Given the description of an element on the screen output the (x, y) to click on. 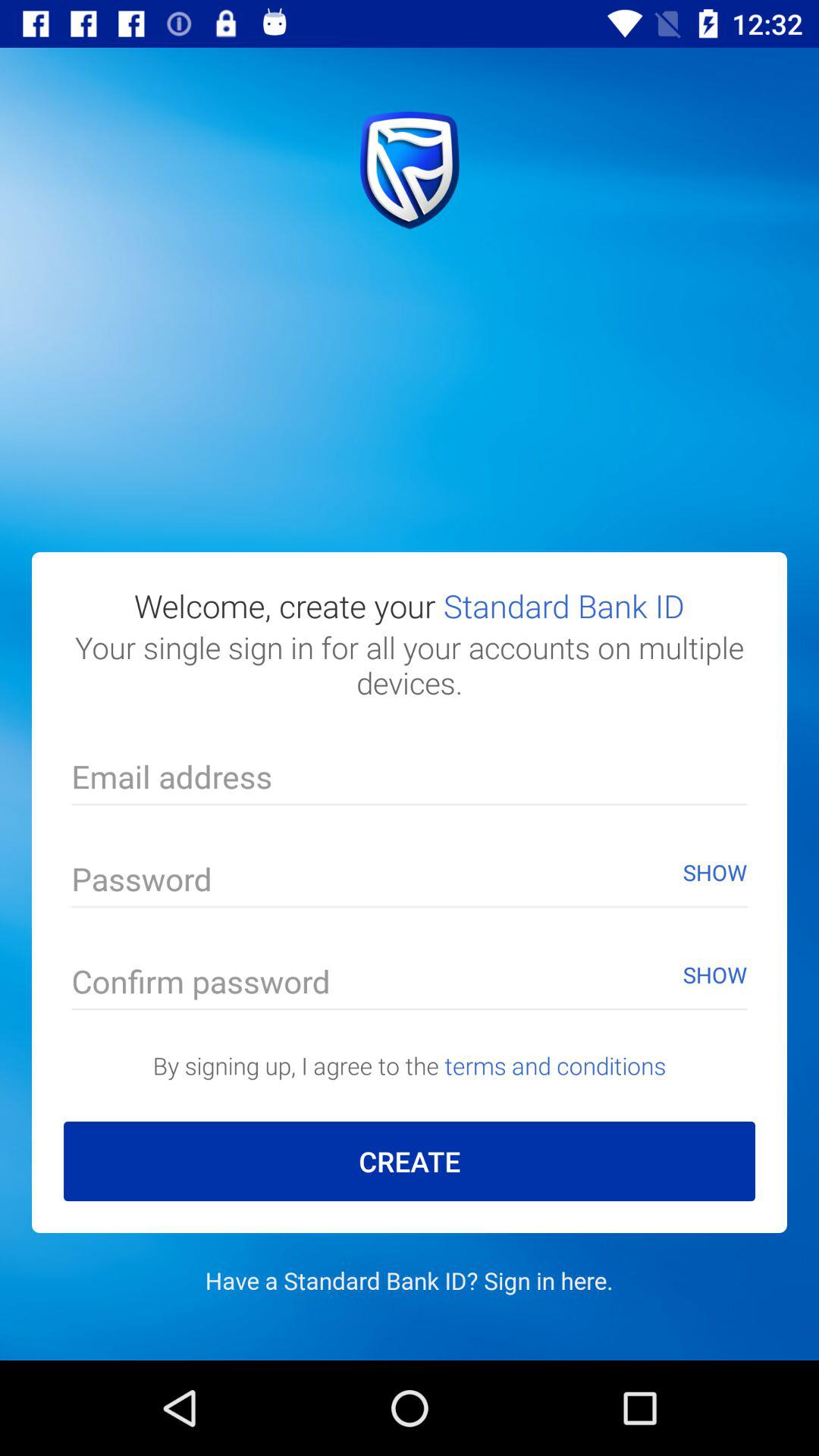
enter password (409, 882)
